Given the description of an element on the screen output the (x, y) to click on. 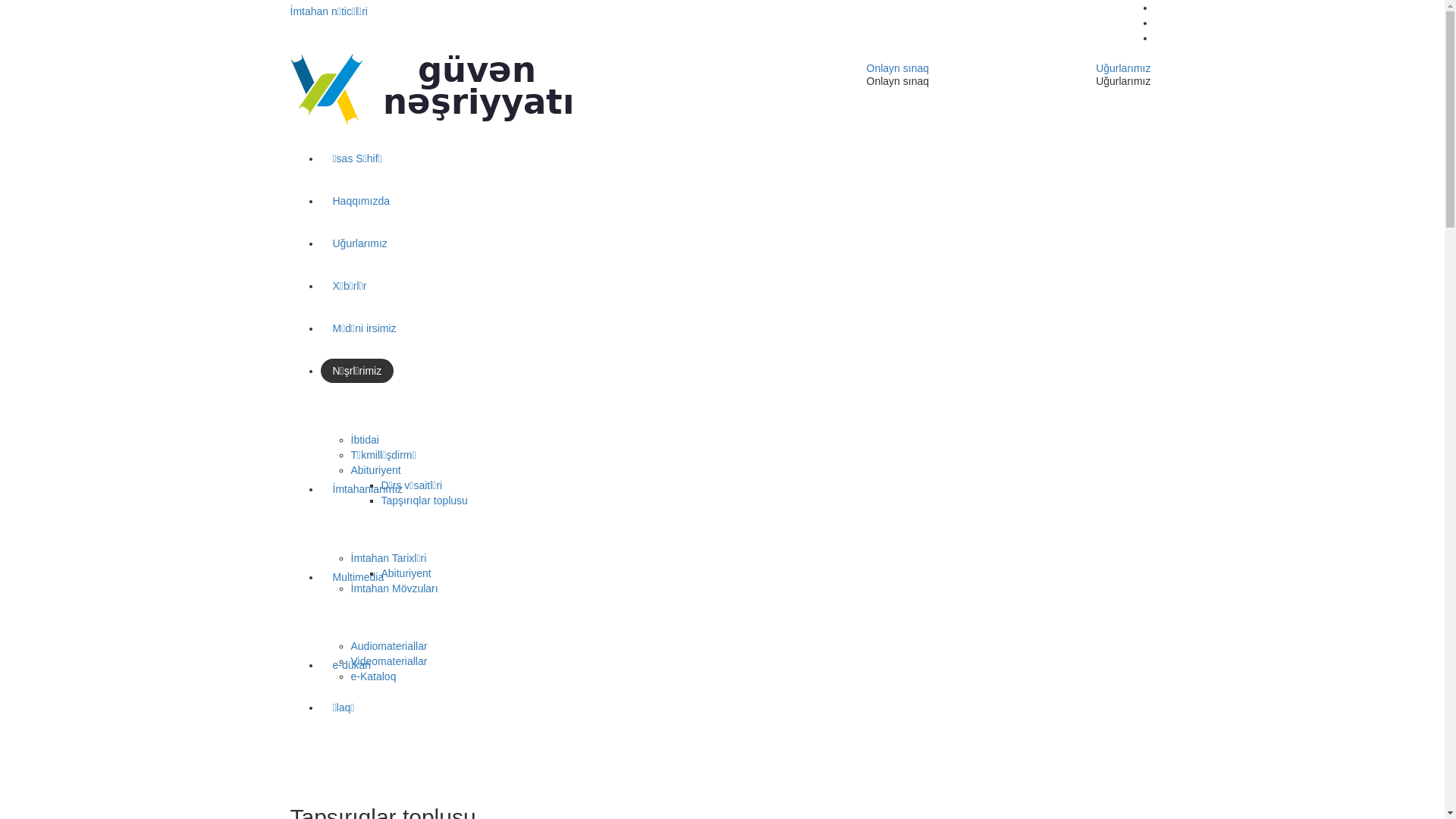
e-Kataloq Element type: text (372, 676)
Multimedia Element type: text (357, 576)
Audiomateriallar Element type: text (388, 646)
Videomateriallar Element type: text (388, 661)
Abituriyent Element type: text (405, 573)
Abituriyent Element type: text (375, 470)
